Given the description of an element on the screen output the (x, y) to click on. 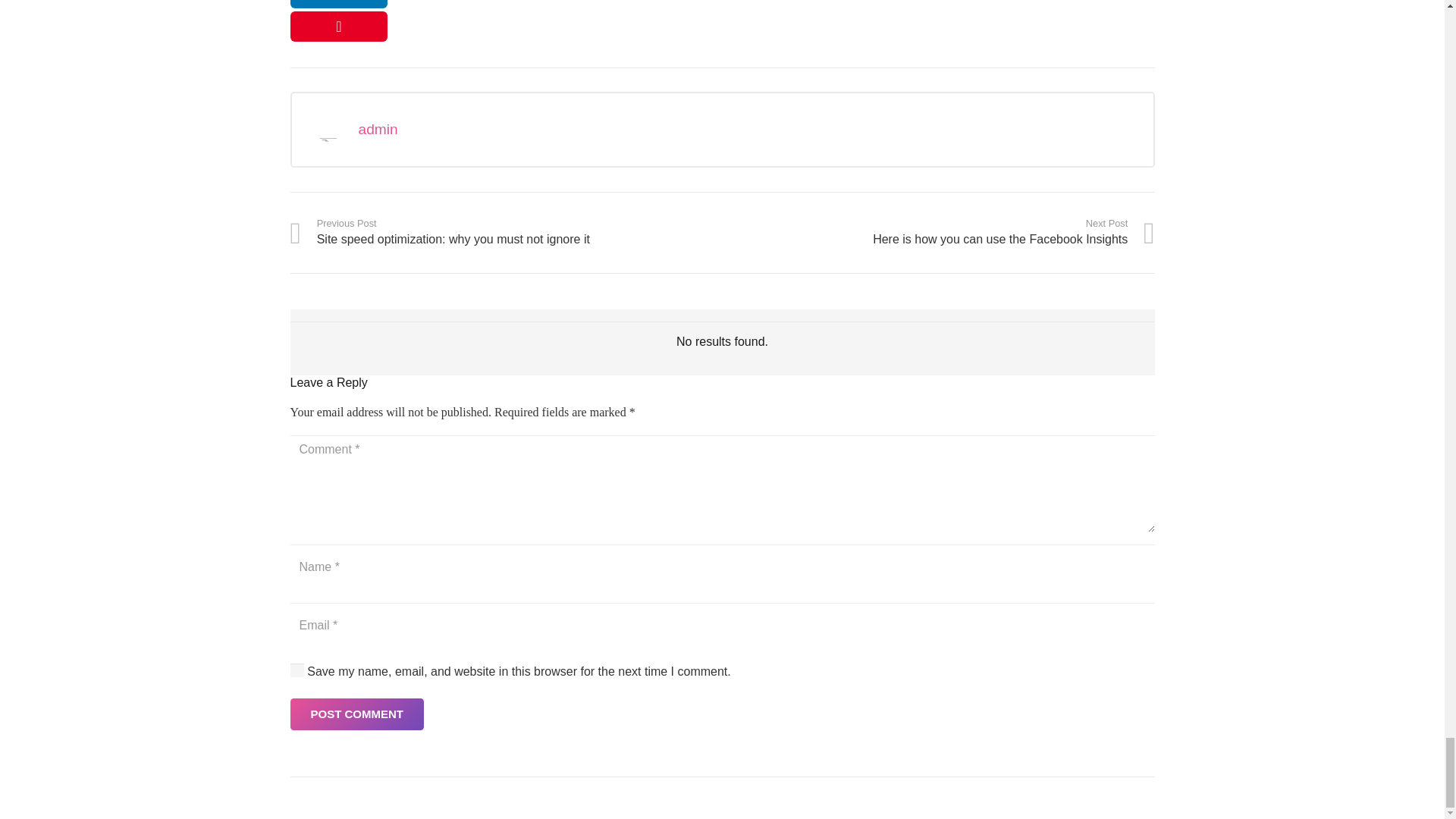
Share this (338, 4)
admin (743, 129)
1 (296, 669)
POST COMMENT (938, 232)
Here is how you can use the Facebook Insights (356, 714)
Site speed optimization: why you must not ignore it (938, 232)
Pin this (505, 232)
